Given the description of an element on the screen output the (x, y) to click on. 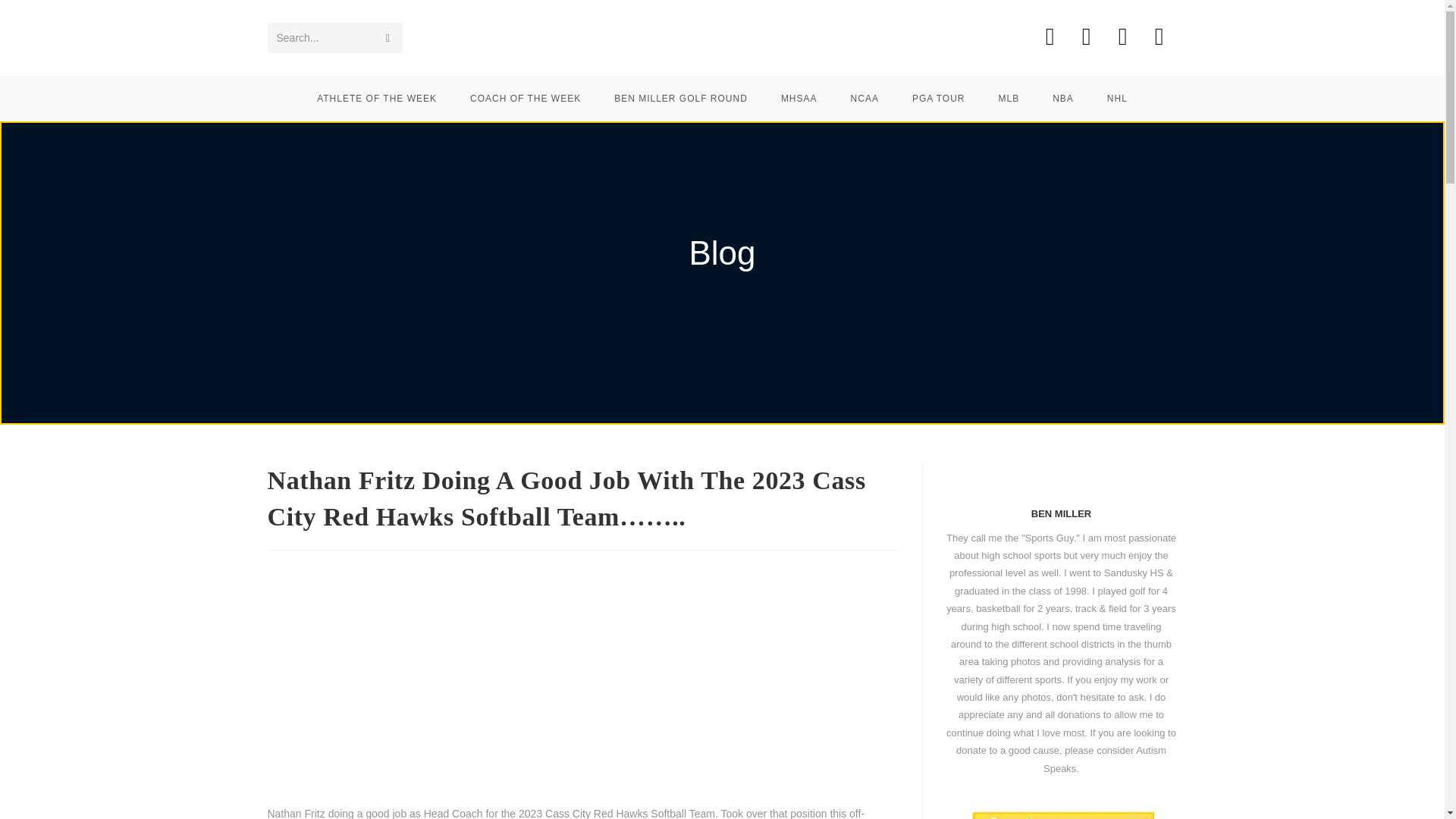
BEN MILLER GOLF ROUND (680, 98)
PGA TOUR (938, 98)
MLB (1008, 98)
NBA (1062, 98)
ATHLETE OF THE WEEK (375, 98)
NCAA (864, 98)
MHSAA (799, 98)
COACH OF THE WEEK (524, 98)
PayPal - The safer, easier way to pay online! (1061, 813)
NHL (1117, 98)
